Given the description of an element on the screen output the (x, y) to click on. 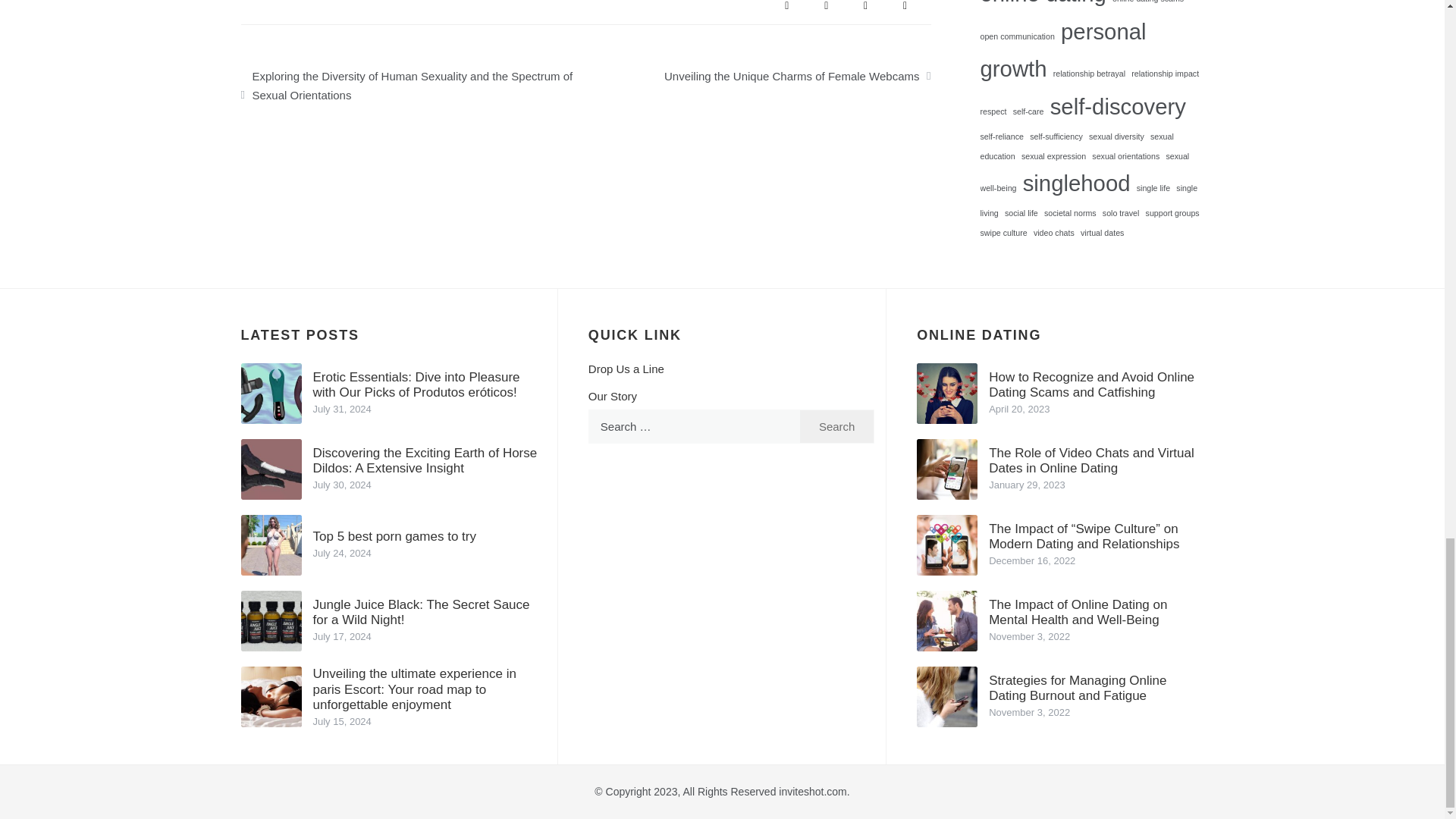
Search (837, 426)
Unveiling the Unique Charms of Female Webcams (758, 72)
Search (837, 426)
